Given the description of an element on the screen output the (x, y) to click on. 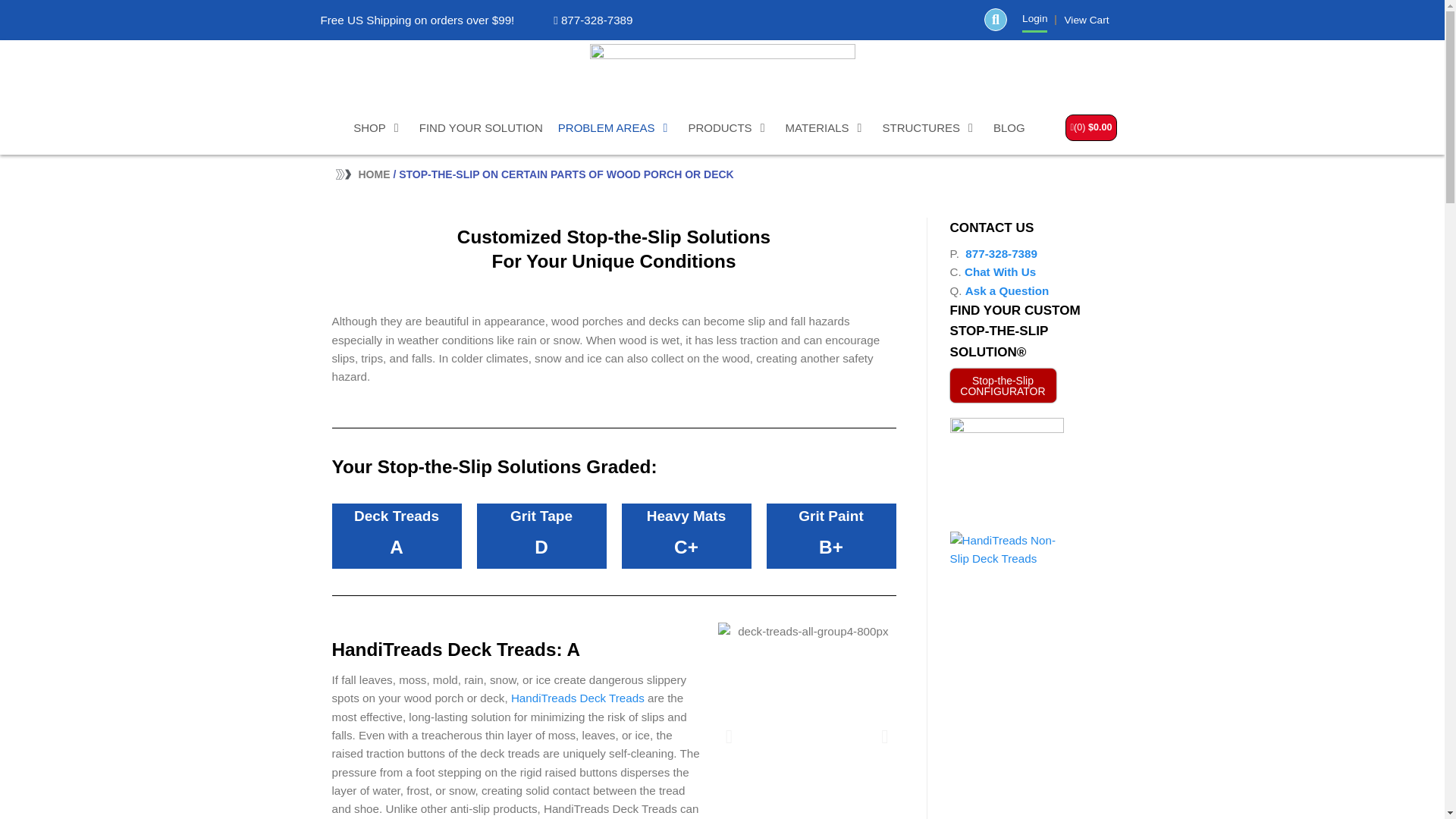
Login (1034, 18)
STRUCTURES (930, 127)
MATERIALS (826, 127)
View Cart (1086, 19)
877-328-7389 (592, 19)
SHOP (378, 127)
FIND YOUR SOLUTION (481, 127)
BLOG (1008, 127)
